Given the description of an element on the screen output the (x, y) to click on. 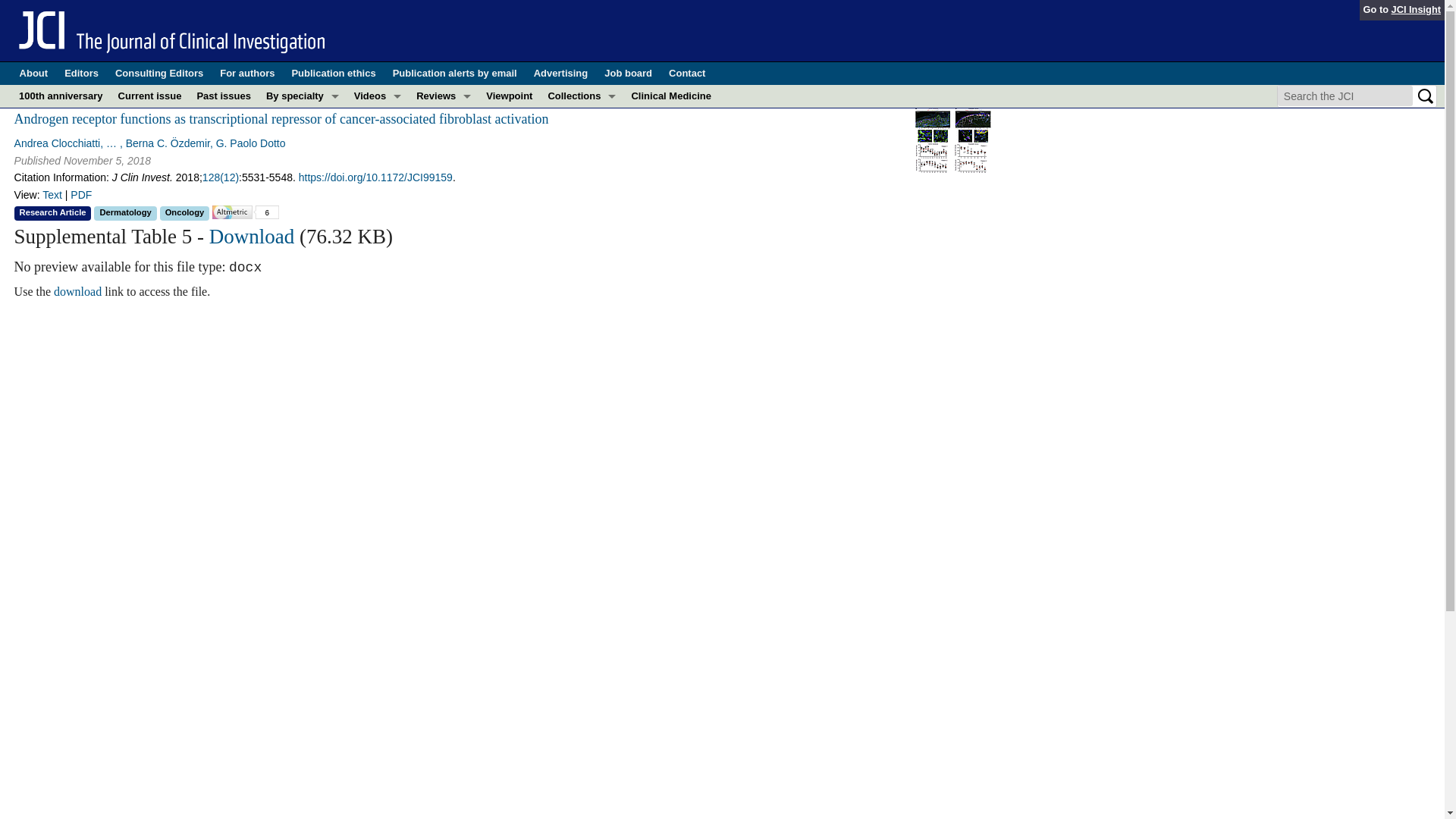
For authors (247, 73)
Contact (686, 73)
By specialty (302, 96)
About (34, 73)
Oncology (302, 277)
Neuroscience (302, 255)
Conversations with Giants in Medicine (377, 118)
Consulting Editors (159, 73)
Videos (377, 96)
Publication alerts by email (454, 73)
Editors (81, 73)
download (77, 291)
Immunology (302, 187)
Metabolism (302, 210)
Current issue (149, 96)
